Given the description of an element on the screen output the (x, y) to click on. 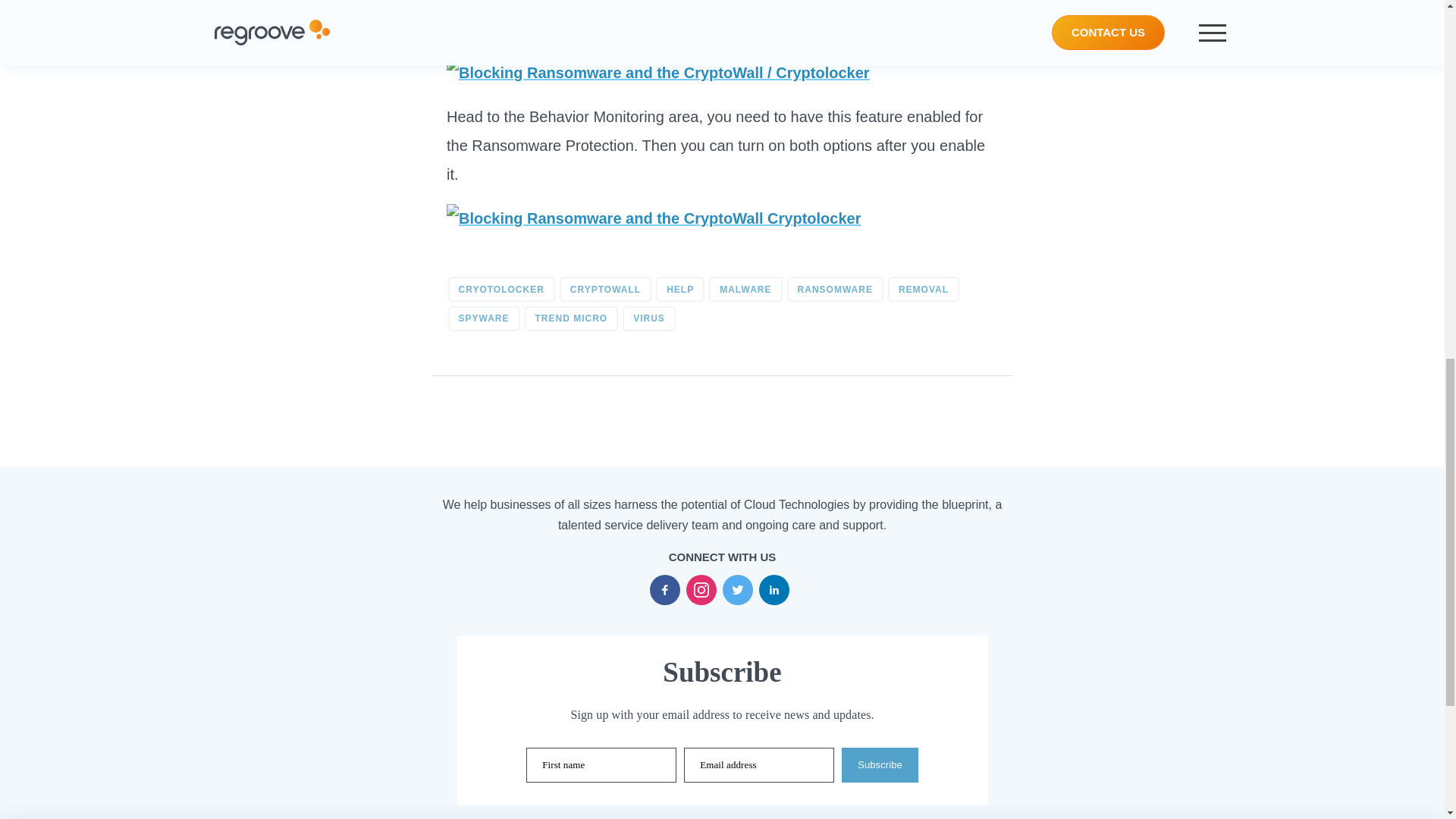
HELP (680, 289)
CRYOTOLOCKER (500, 289)
RANSOMWARE (835, 289)
image (653, 217)
REMOVAL (923, 289)
CRYPTOWALL (604, 289)
MALWARE (745, 289)
Subscribe (879, 764)
TREND MICRO (571, 318)
VIRUS (649, 318)
SPYWARE (482, 318)
image (657, 72)
